Given the description of an element on the screen output the (x, y) to click on. 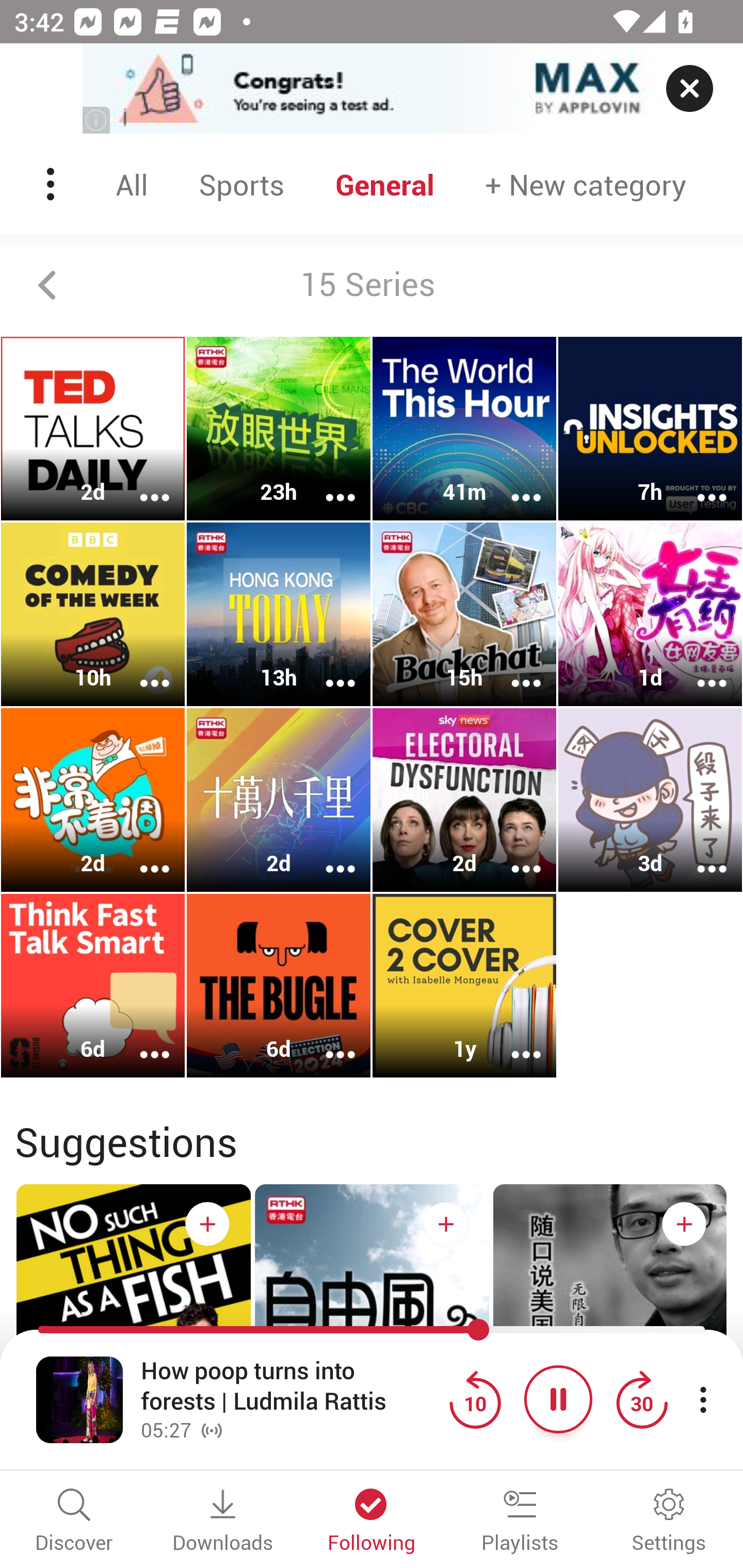
app-monetization (371, 88)
(i) (96, 119)
Menu (52, 184)
All (131, 184)
Sports (241, 184)
General (384, 184)
New category + New category (585, 184)
15 Series (371, 285)
TED Talks Daily 2d More options More options (92, 428)
放眼世界 23h More options More options (278, 428)
The World This Hour 41m More options More options (464, 428)
Insights Unlocked 7h More options More options (650, 428)
More options (141, 484)
More options (326, 484)
More options (512, 484)
More options (698, 484)
Comedy of the Week 10h More options More options (92, 614)
Hong Kong Today 13h More options More options (278, 614)
Backchat 15h More options More options (464, 614)
女王有药丨爆笑脱口秀 1d More options More options (650, 614)
More options (141, 669)
More options (326, 669)
More options (512, 669)
More options (698, 669)
非常不着调 2d More options More options (92, 799)
十萬八千里 2d More options More options (278, 799)
Electoral Dysfunction 2d More options More options (464, 799)
段子来了 3d More options More options (650, 799)
More options (141, 856)
More options (326, 856)
More options (512, 856)
More options (698, 856)
The Bugle 6d More options More options (278, 985)
Cover 2 Cover 1y More options More options (464, 985)
More options (141, 1041)
More options (326, 1041)
More options (512, 1041)
自由风自由PHONE 自由风自由PHONE Subscribe button (371, 1339)
随口说美国 随口说美国 Subscribe button (609, 1339)
Subscribe button (207, 1223)
Subscribe button (446, 1223)
Subscribe button (684, 1223)
Open fullscreen player (79, 1399)
More player controls (703, 1399)
How poop turns into forests | Ludmila Rattis (290, 1385)
Pause button (558, 1398)
Jump back (475, 1399)
Jump forward (641, 1399)
Discover (74, 1521)
Downloads (222, 1521)
Following (371, 1521)
Playlists (519, 1521)
Settings (668, 1521)
